Given the description of an element on the screen output the (x, y) to click on. 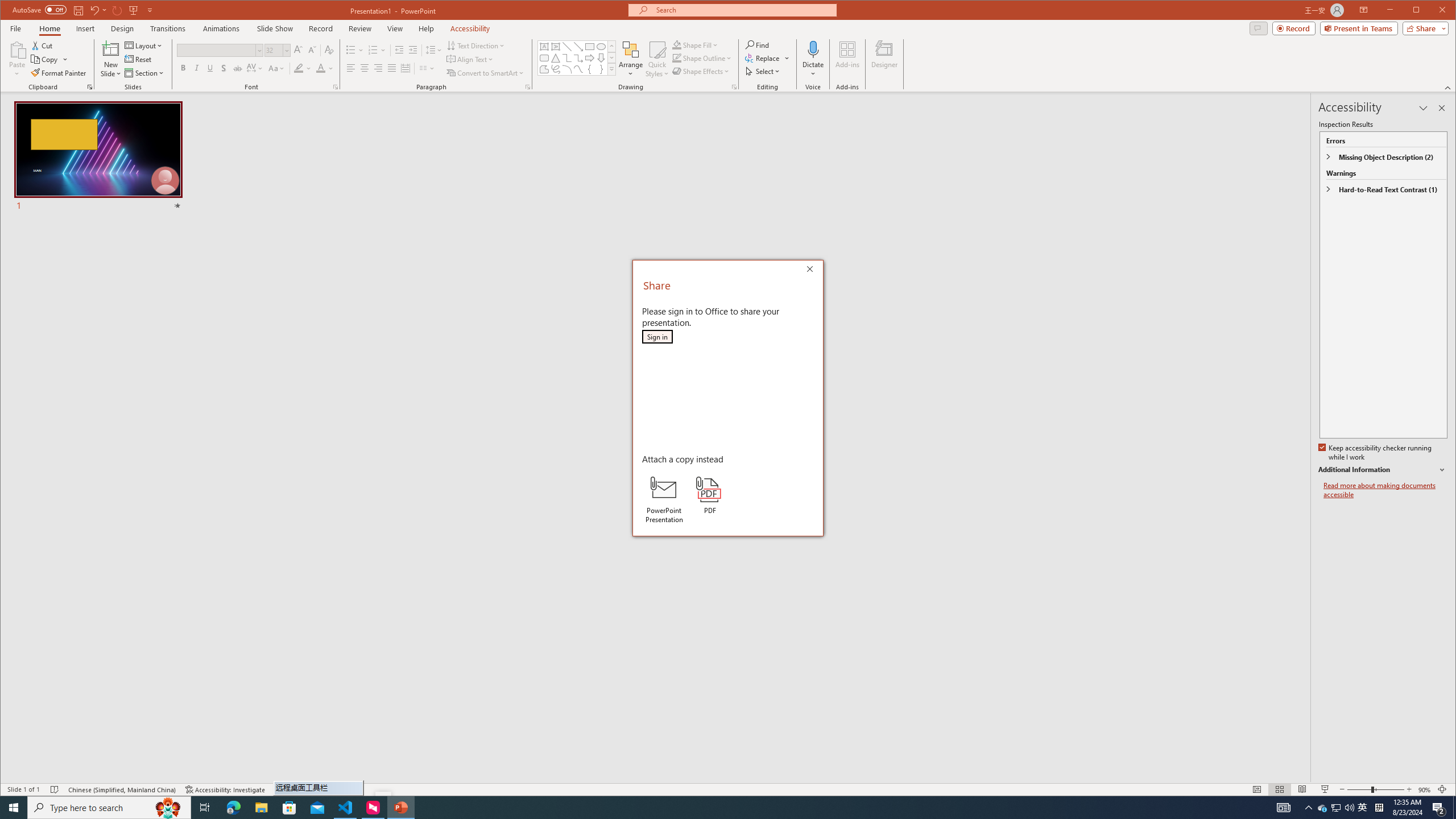
Shape Fill (695, 44)
Reset (138, 59)
Italic (196, 68)
Align Text (470, 59)
Arrow: Right (589, 57)
Search highlights icon opens search home window (167, 807)
Justify (391, 68)
Text Direction (476, 45)
Freeform: Scribble (556, 69)
